Given the description of an element on the screen output the (x, y) to click on. 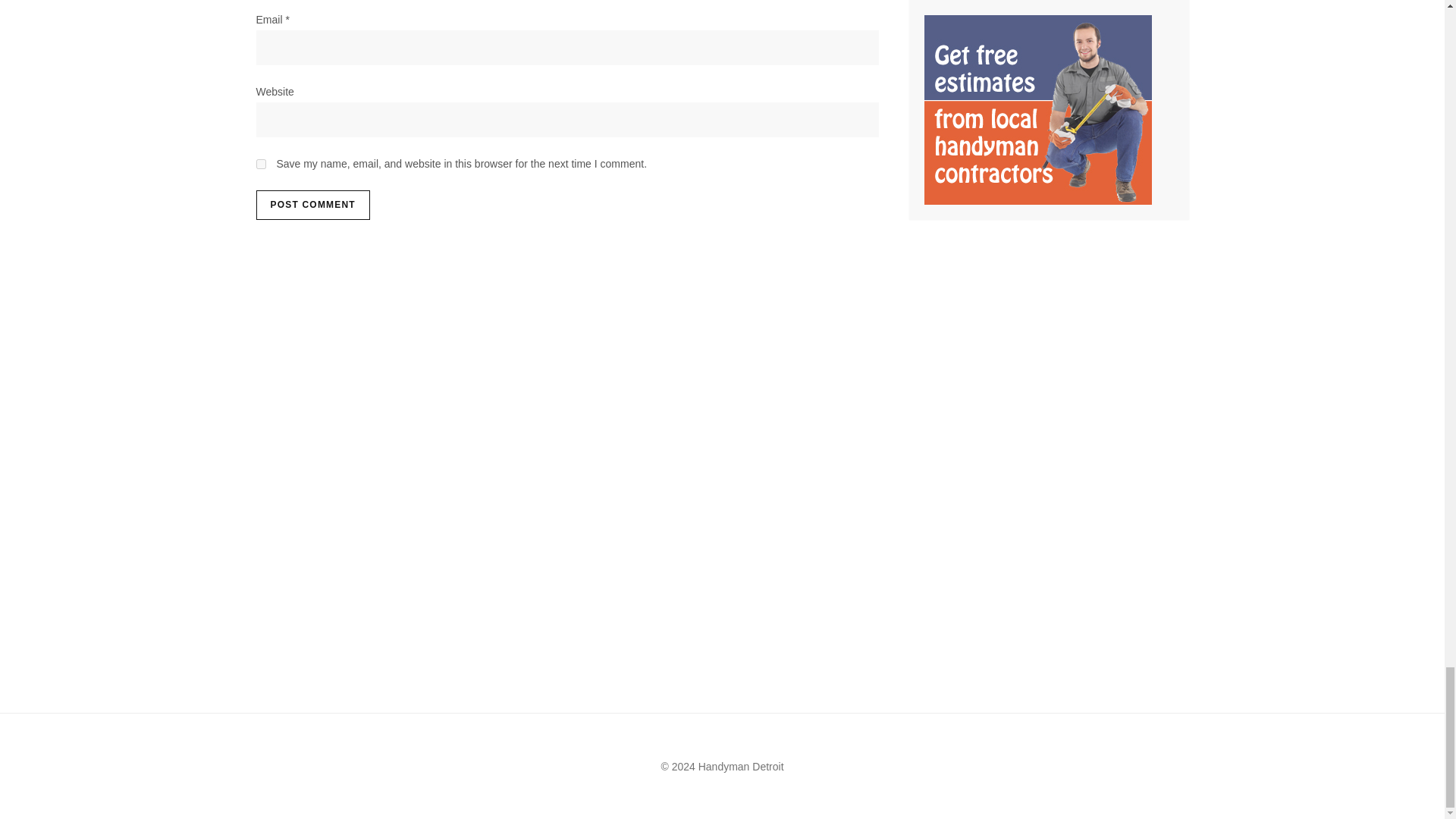
Post Comment (312, 205)
Post Comment (312, 205)
yes (261, 163)
